Given the description of an element on the screen output the (x, y) to click on. 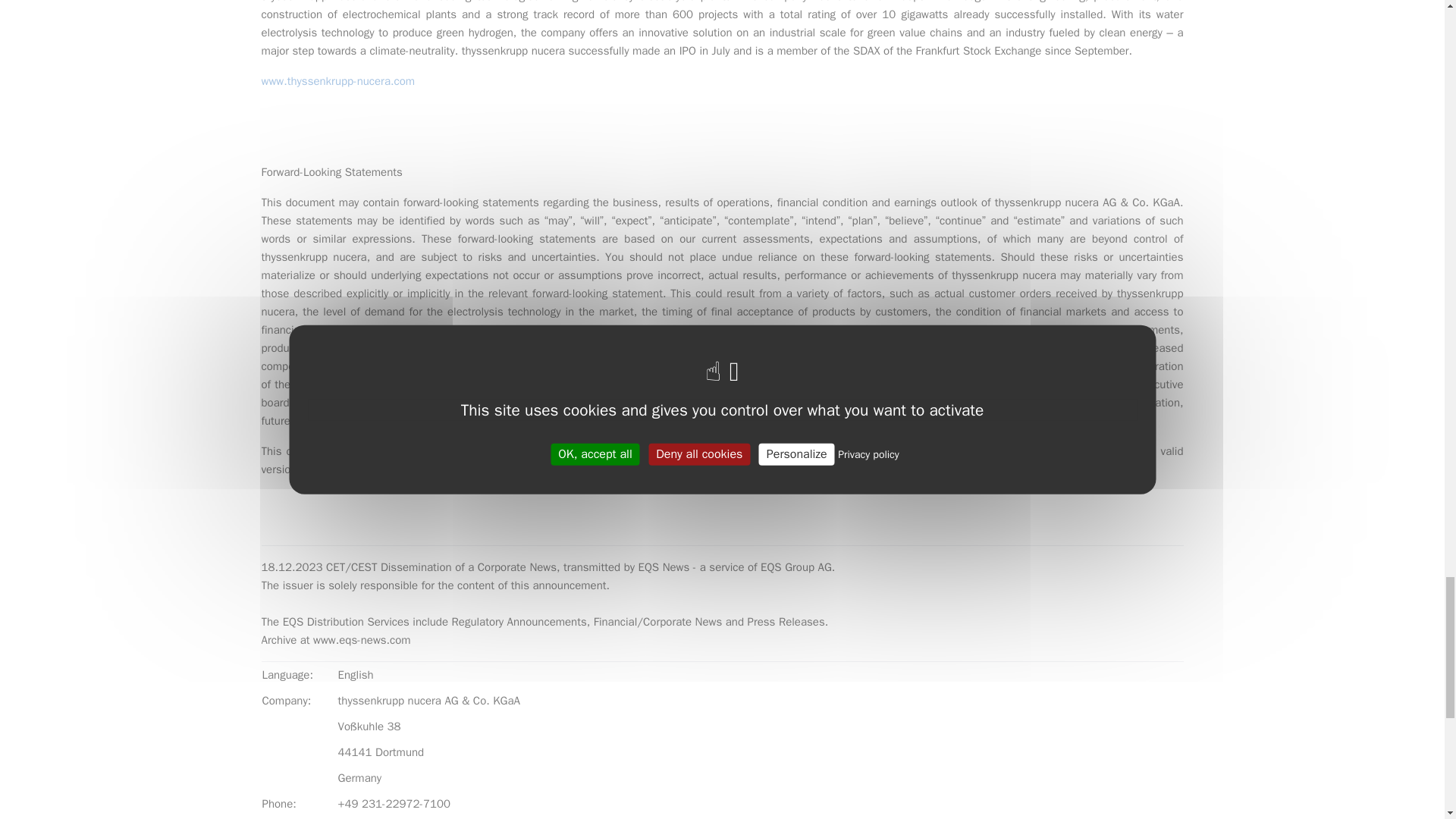
www.thyssenkrupp-nucera.com (337, 80)
